Given the description of an element on the screen output the (x, y) to click on. 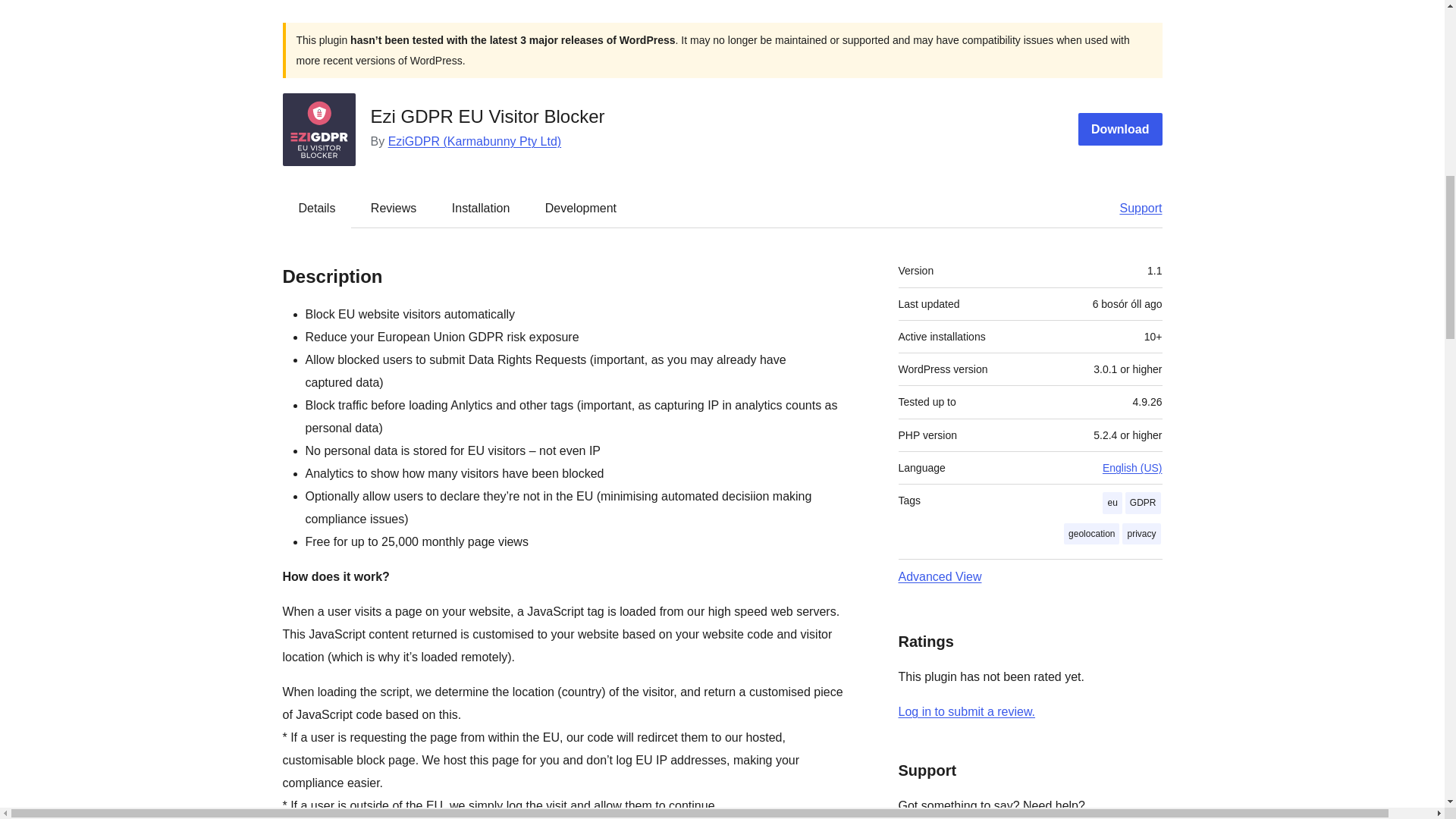
Installation (480, 208)
Reviews (392, 208)
Download (1119, 129)
Development (580, 208)
Support (1132, 208)
Log in to WordPress.org (966, 711)
Details (316, 208)
